Given the description of an element on the screen output the (x, y) to click on. 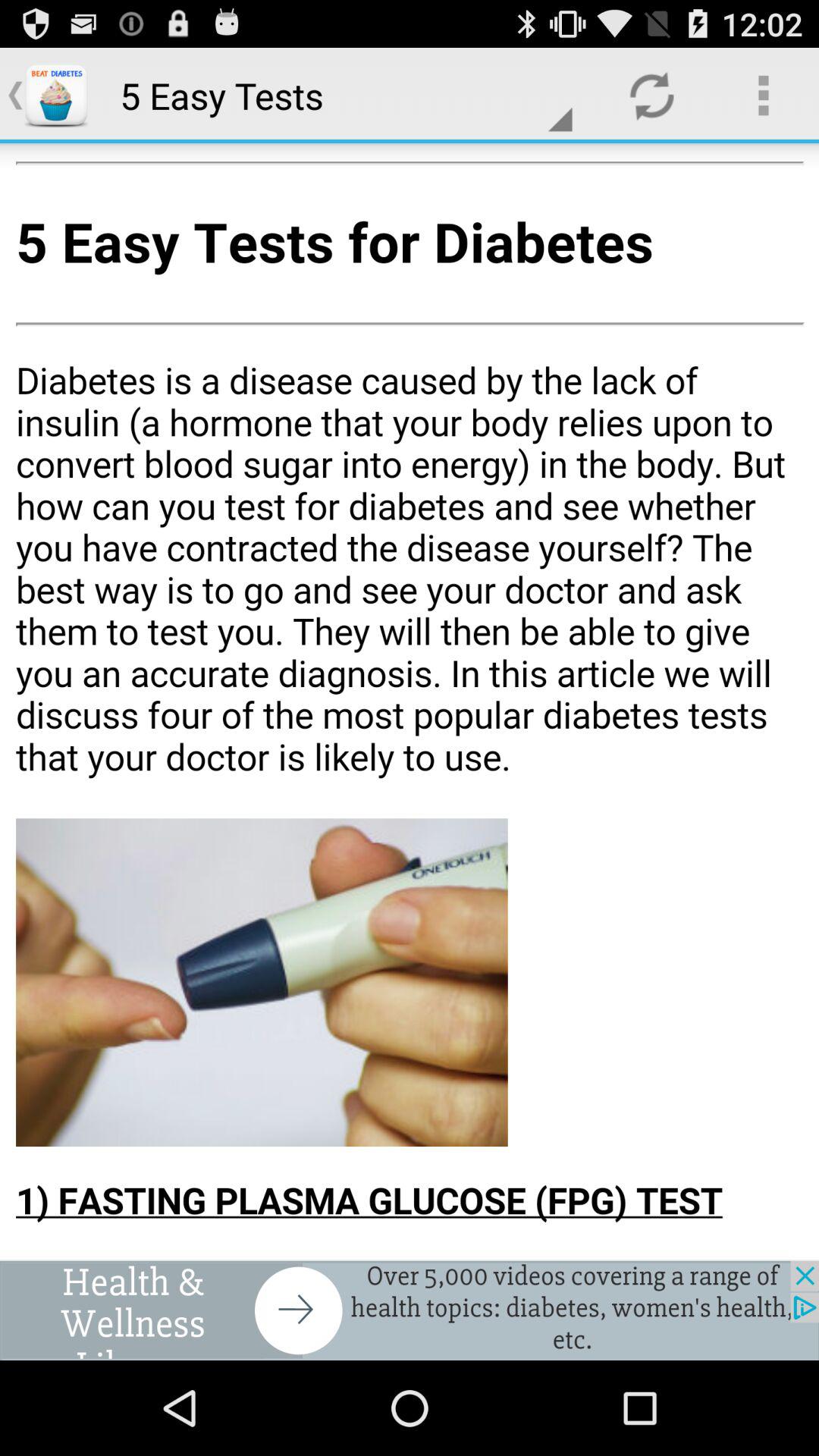
open advertisement (409, 1310)
